Given the description of an element on the screen output the (x, y) to click on. 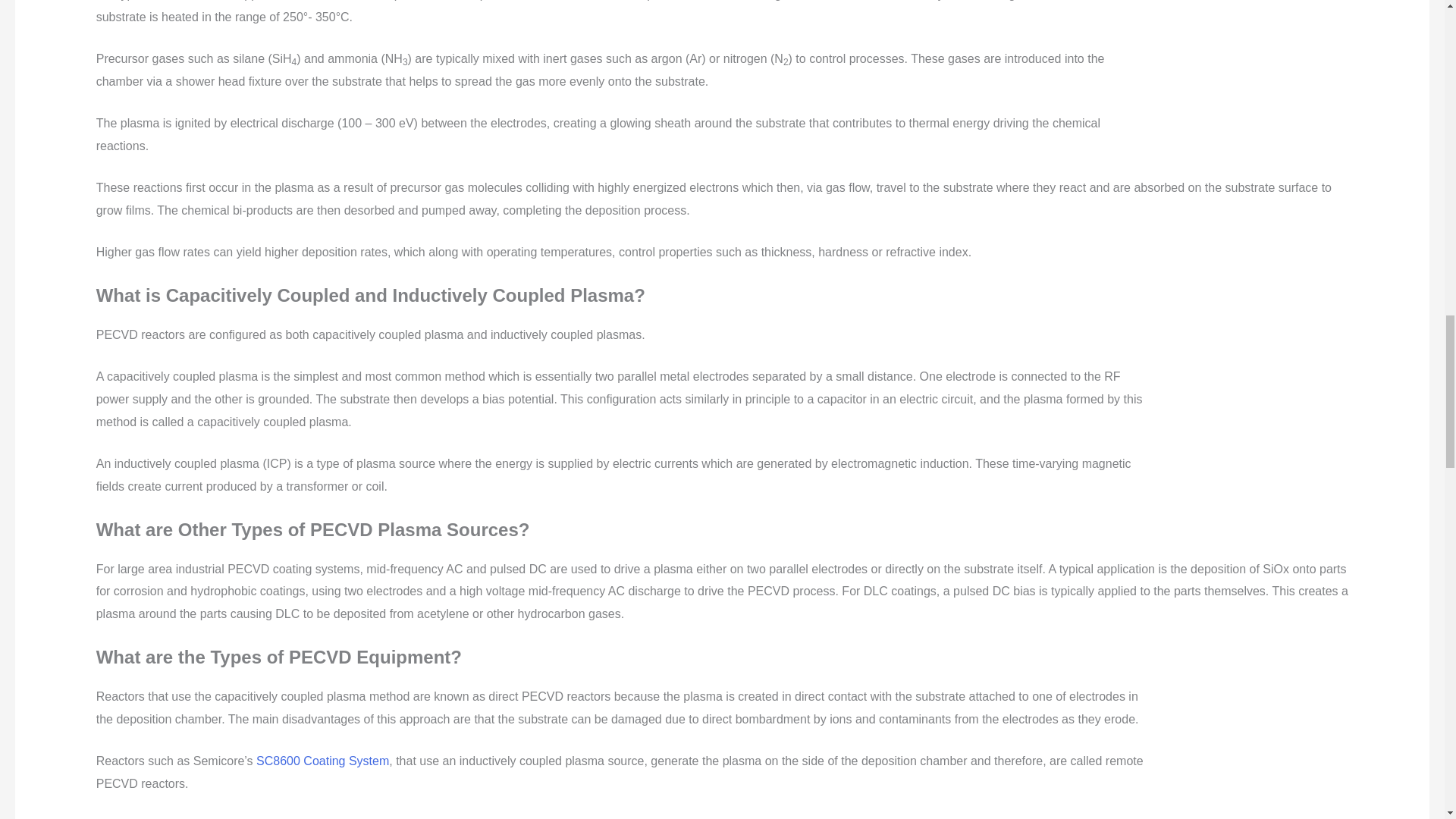
Click for larger Diagram of Direct PECVD Process Reactor (1253, 755)
